Given the description of an element on the screen output the (x, y) to click on. 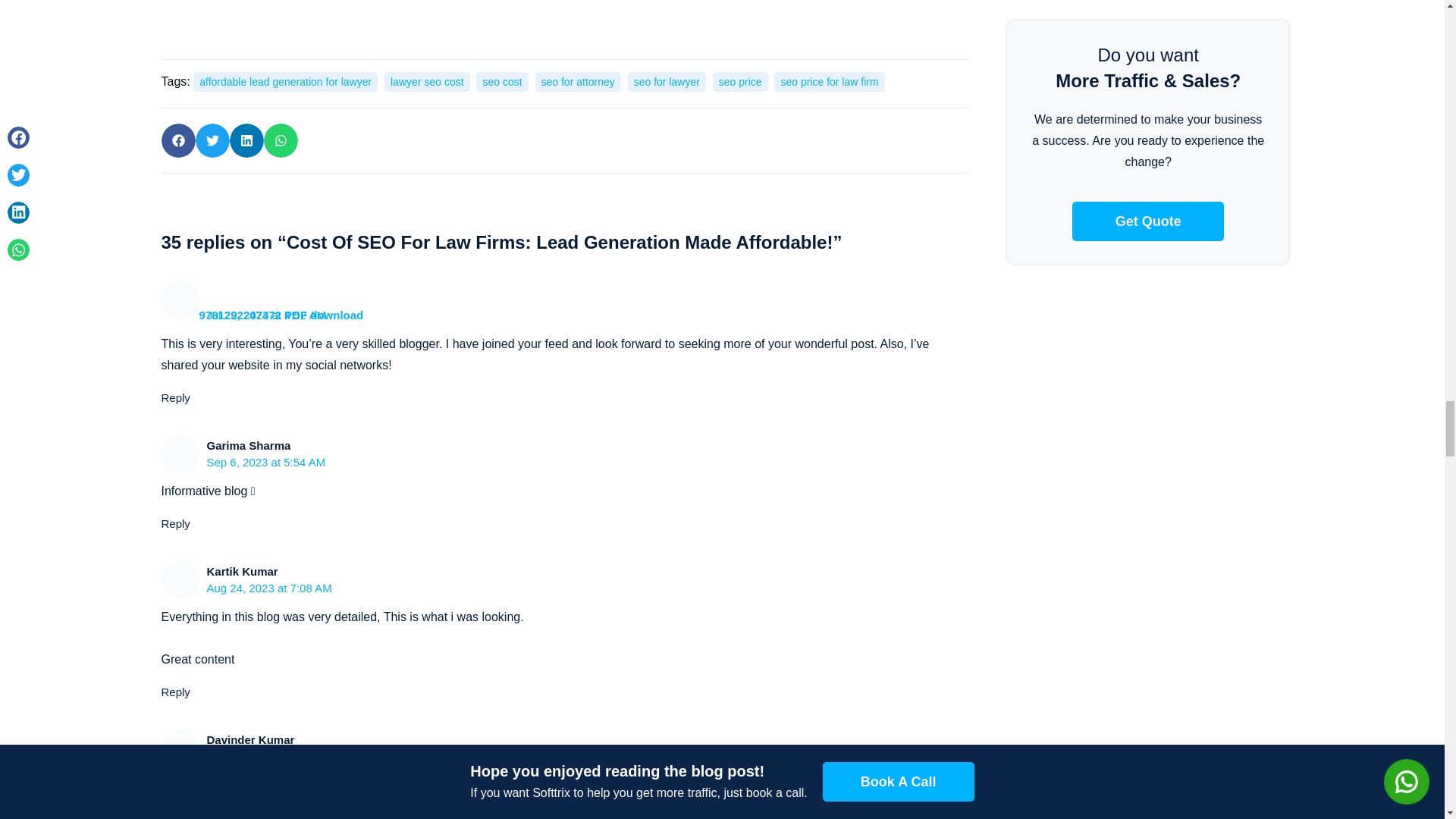
Reply (174, 691)
Reply (174, 522)
Reply (174, 397)
